Given the description of an element on the screen output the (x, y) to click on. 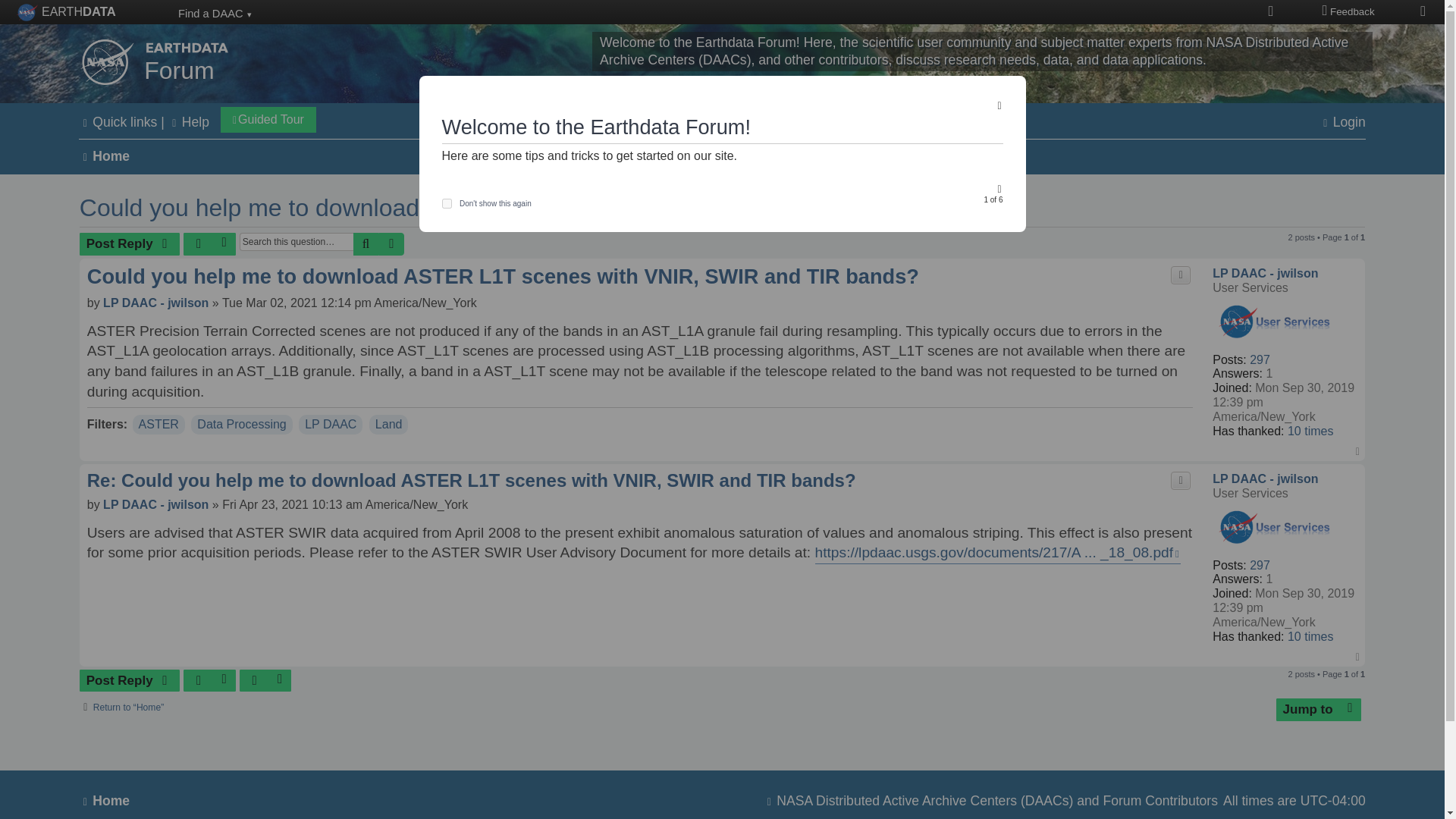
Guided Tour (268, 119)
1 (446, 203)
Home (178, 63)
EARTHDATA (66, 11)
Login (1342, 122)
Home (103, 156)
Quick links (117, 122)
Forum (178, 63)
Help (188, 122)
Feedback (1346, 12)
